Given the description of an element on the screen output the (x, y) to click on. 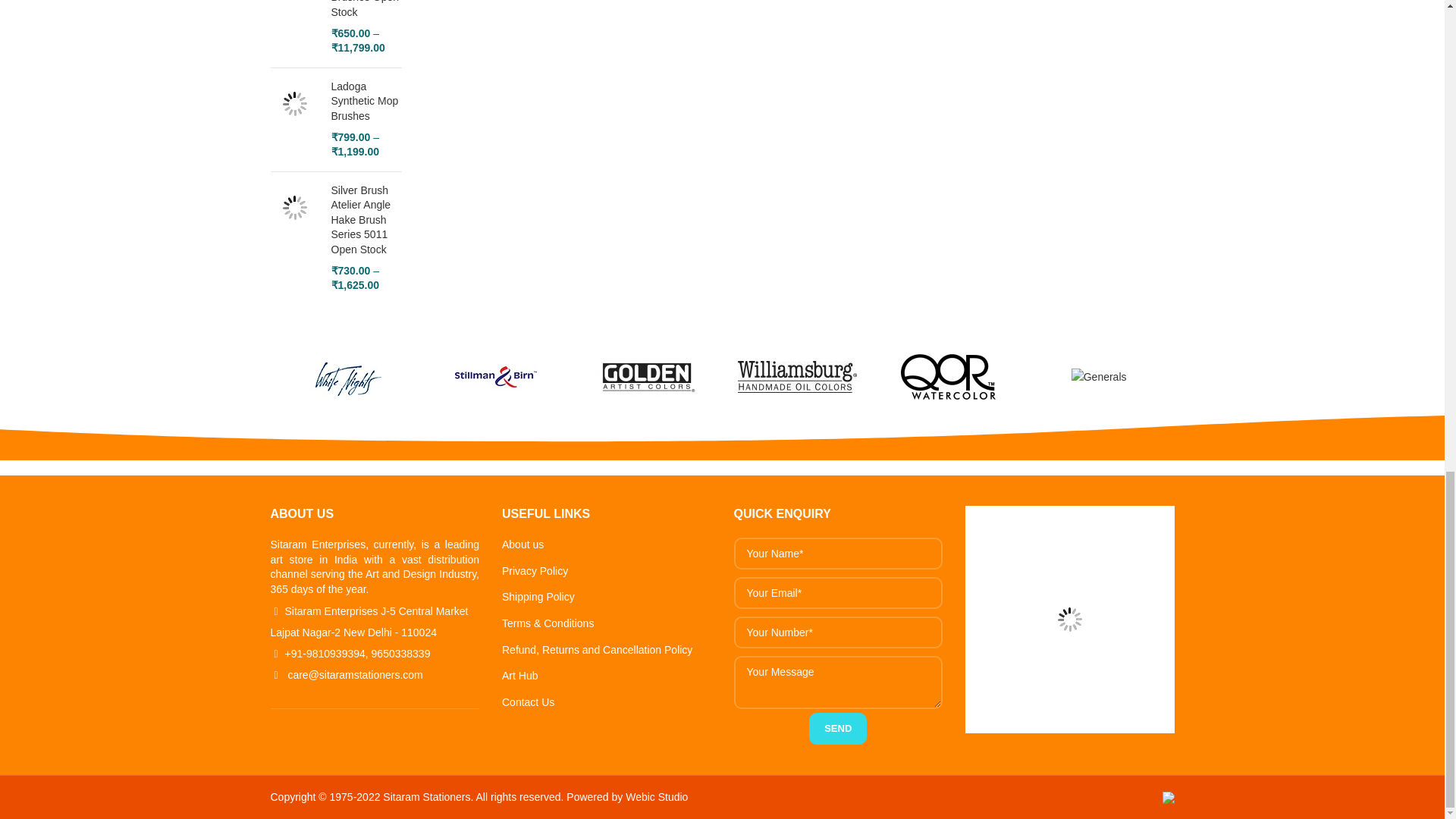
Send (837, 728)
